Given the description of an element on the screen output the (x, y) to click on. 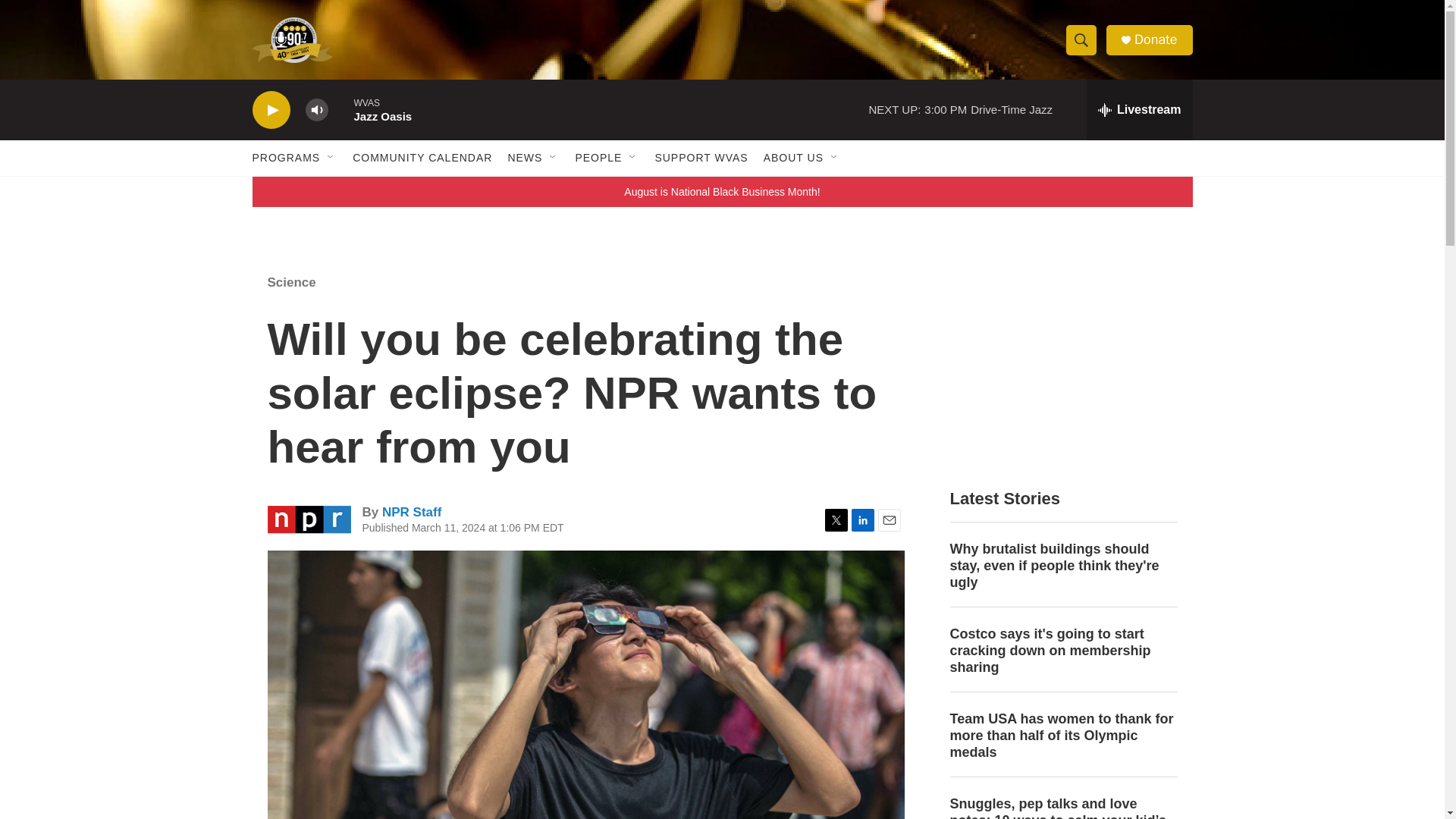
3rd party ad content (1062, 362)
Show Search (1080, 39)
Donate (1155, 39)
